Given the description of an element on the screen output the (x, y) to click on. 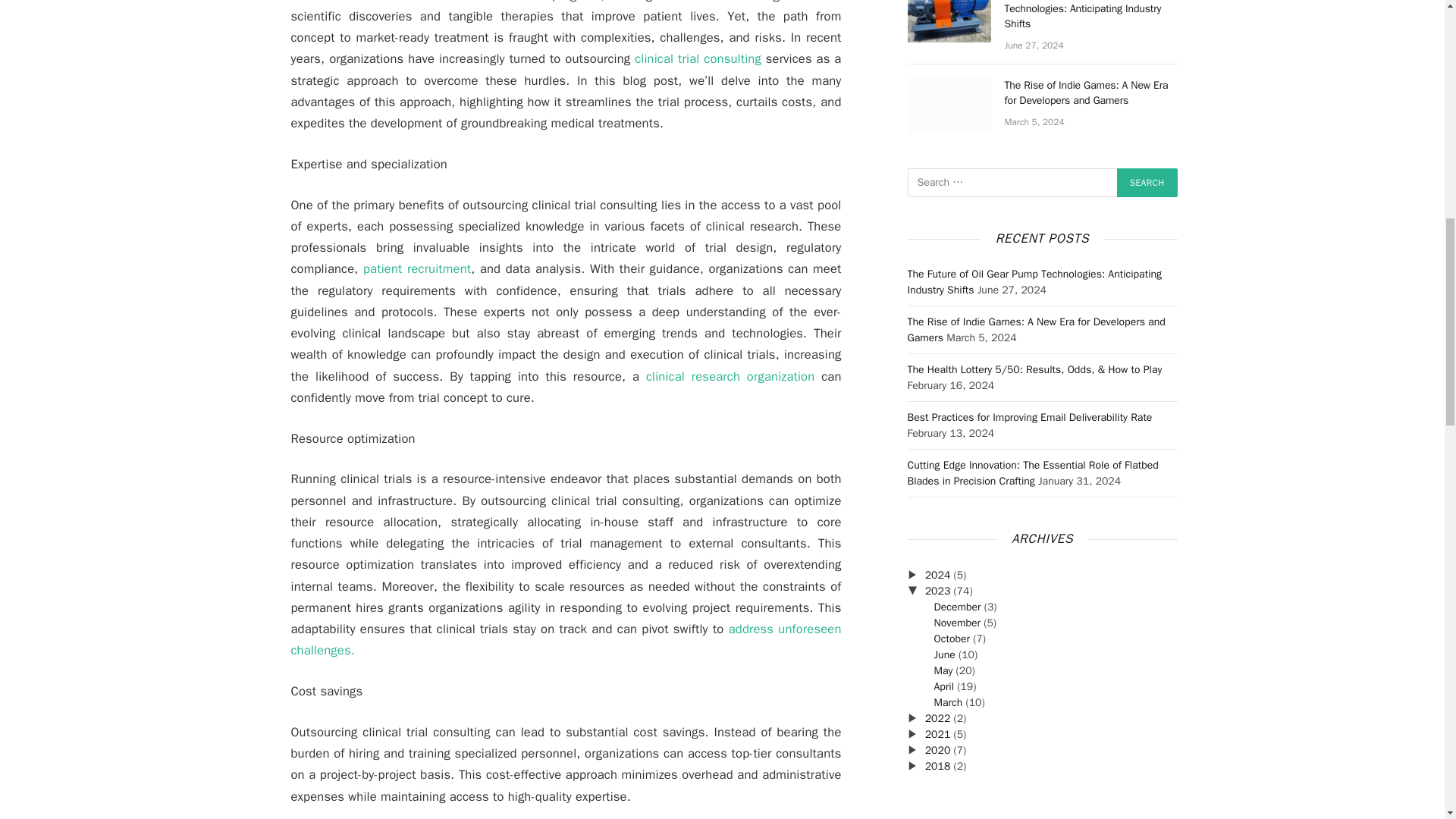
Search (1146, 182)
Search (1146, 182)
